Given the description of an element on the screen output the (x, y) to click on. 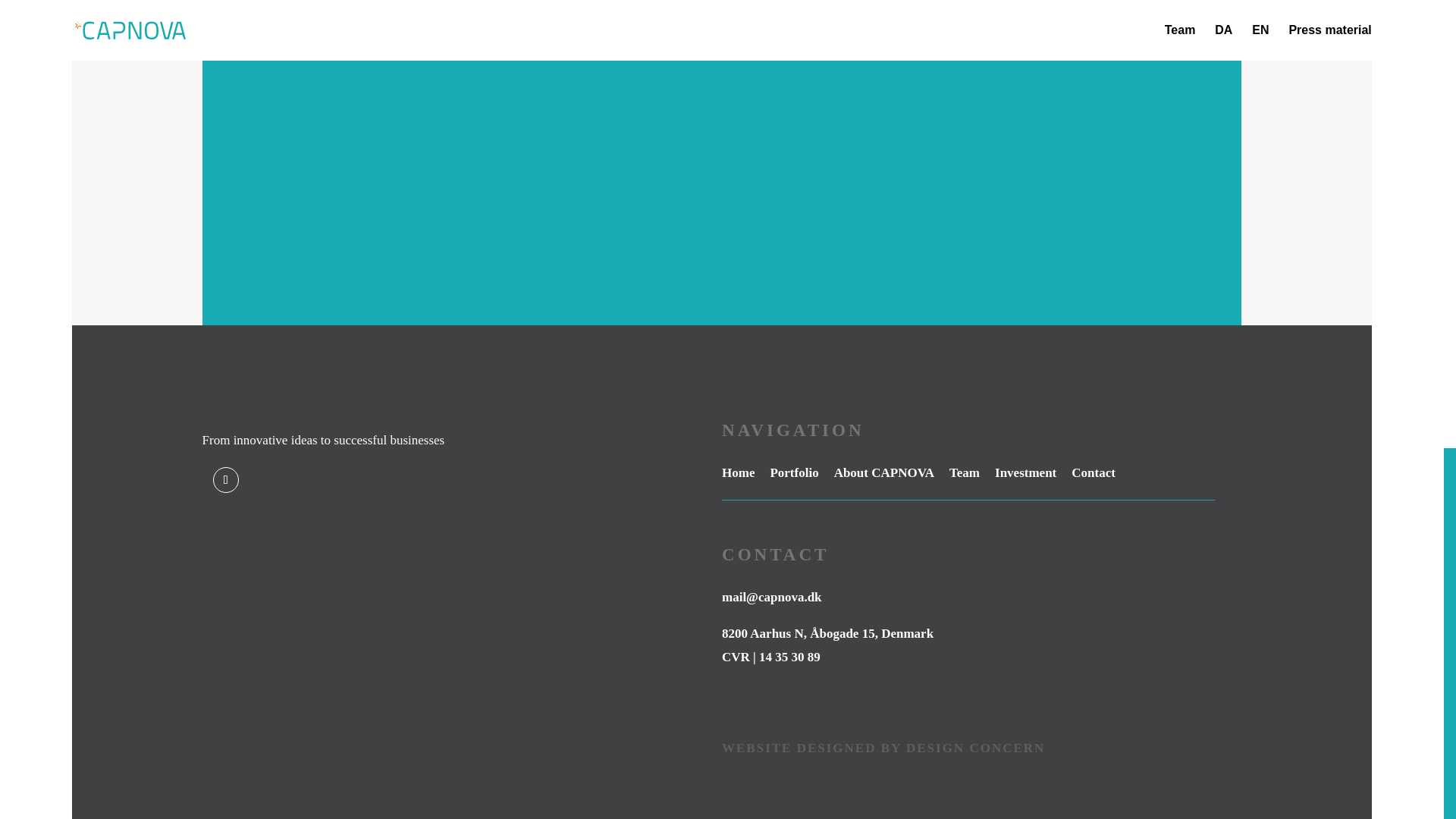
Home (738, 472)
About CAPNOVA (884, 472)
Team (964, 472)
Follow on LinkedIn (225, 479)
Portfolio (794, 472)
Investment (1025, 472)
Contact (1093, 472)
